Given the description of an element on the screen output the (x, y) to click on. 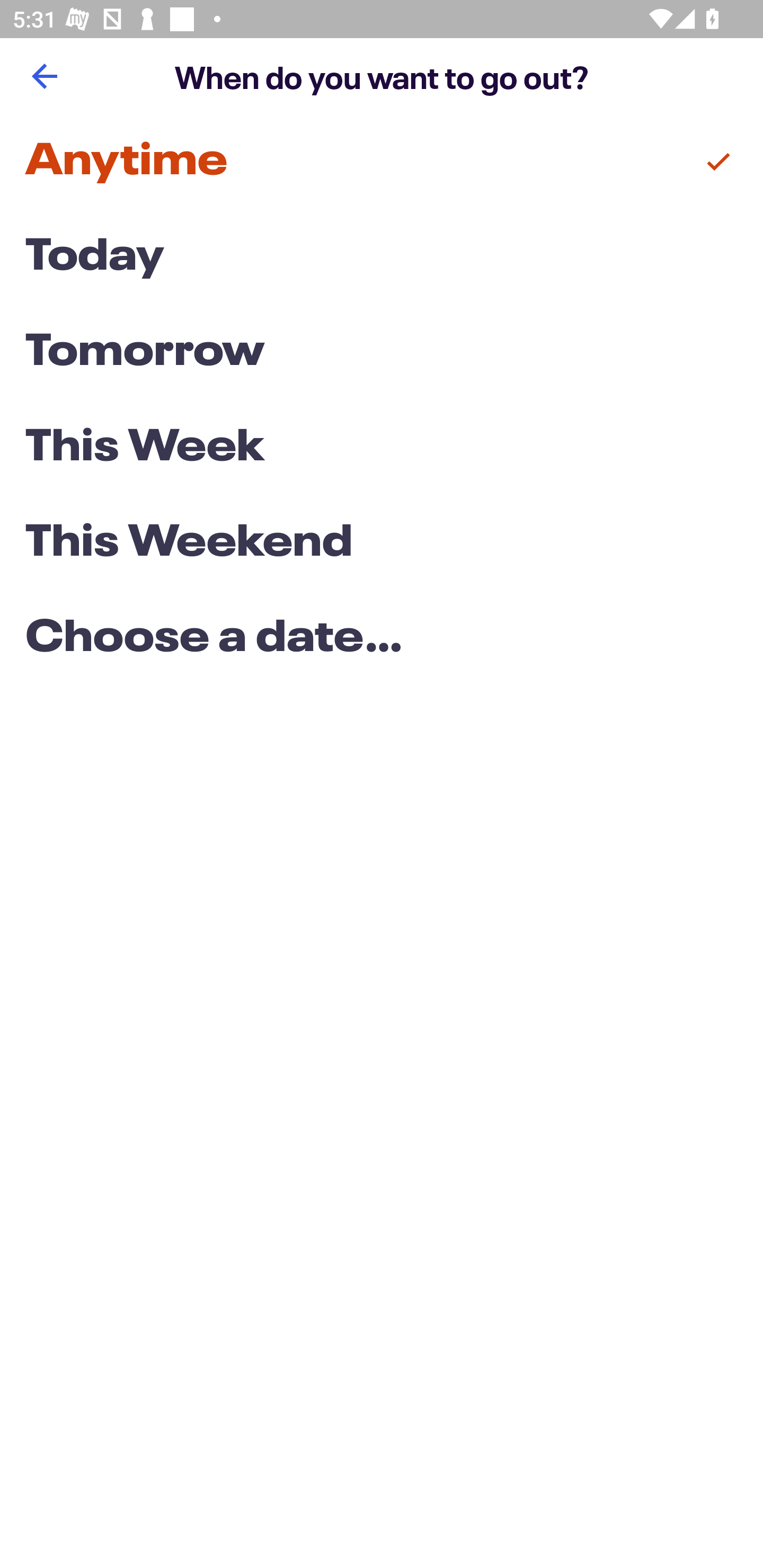
Back button (44, 75)
Anytime (381, 161)
Today (381, 257)
Tomorrow (381, 352)
This Week (381, 447)
This Weekend (381, 542)
Choose a date… (381, 638)
